Given the description of an element on the screen output the (x, y) to click on. 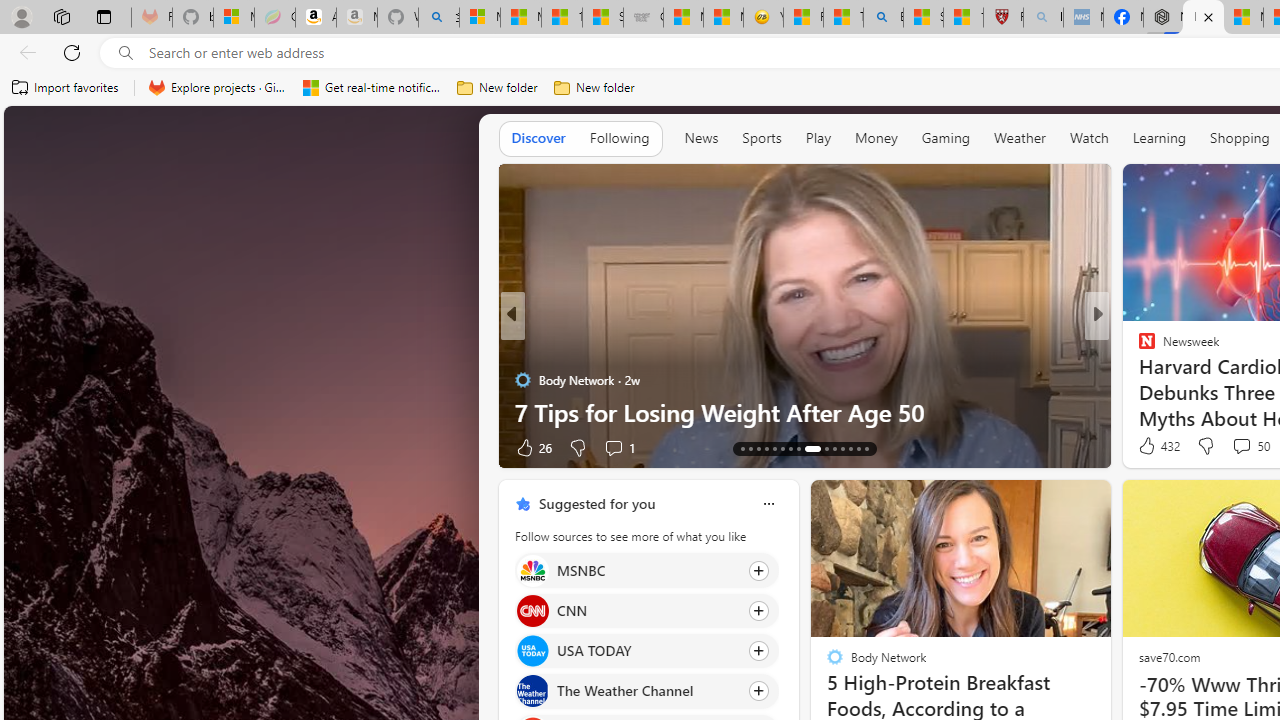
AutomationID: tab-80 (857, 448)
Moneywise (1138, 347)
Ad Choice (479, 448)
Sports (761, 138)
Start the conversation (1222, 447)
Import favorites (65, 88)
Following (619, 138)
The Weather Channel (532, 691)
Shopping (1240, 137)
AutomationID: tab-67 (750, 448)
Nordace (1153, 380)
View comments 29 Comment (11, 447)
Following (619, 137)
News (701, 137)
451 Like (1151, 447)
